Given the description of an element on the screen output the (x, y) to click on. 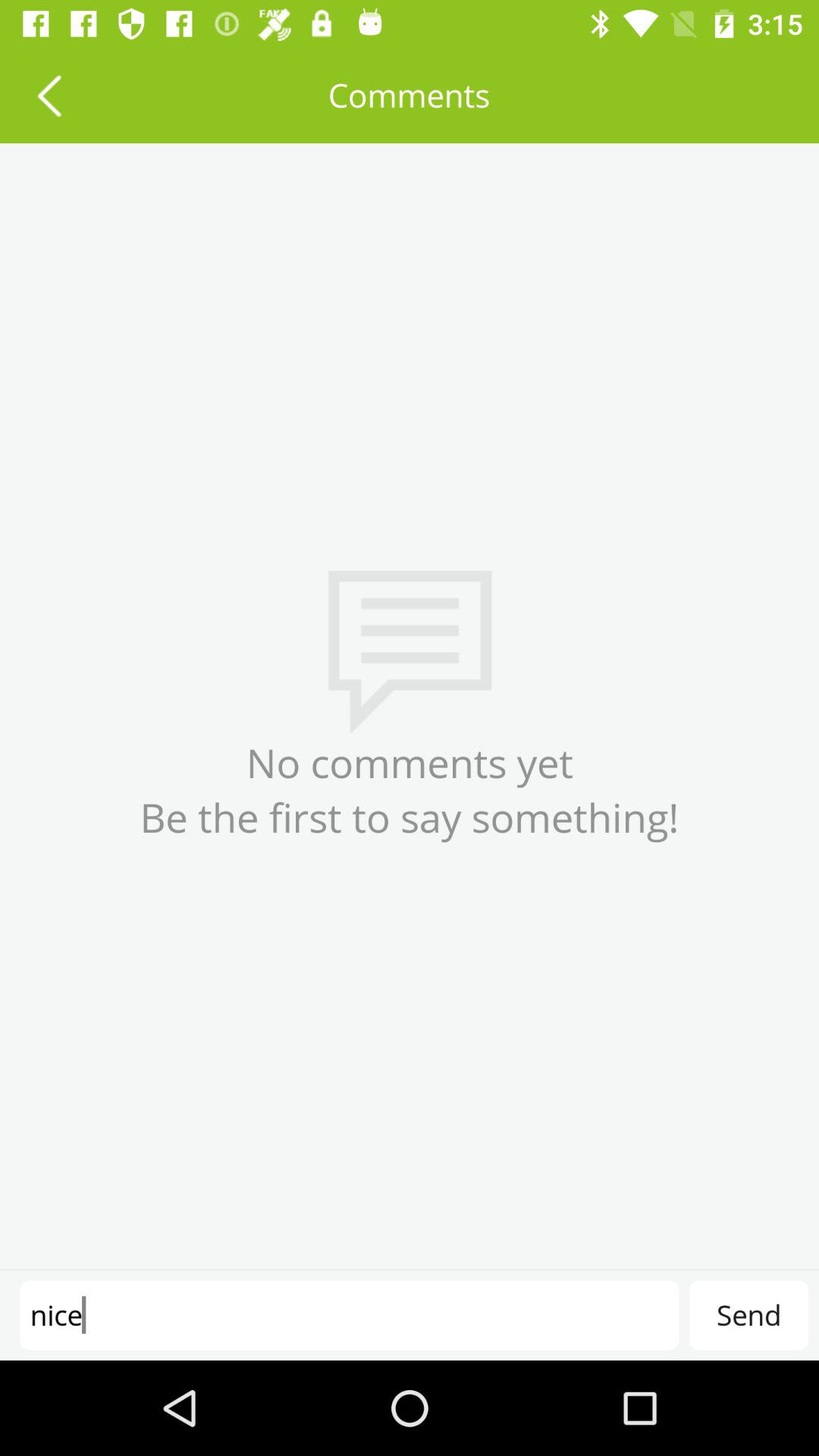
tap icon above the no comments yet (48, 95)
